Given the description of an element on the screen output the (x, y) to click on. 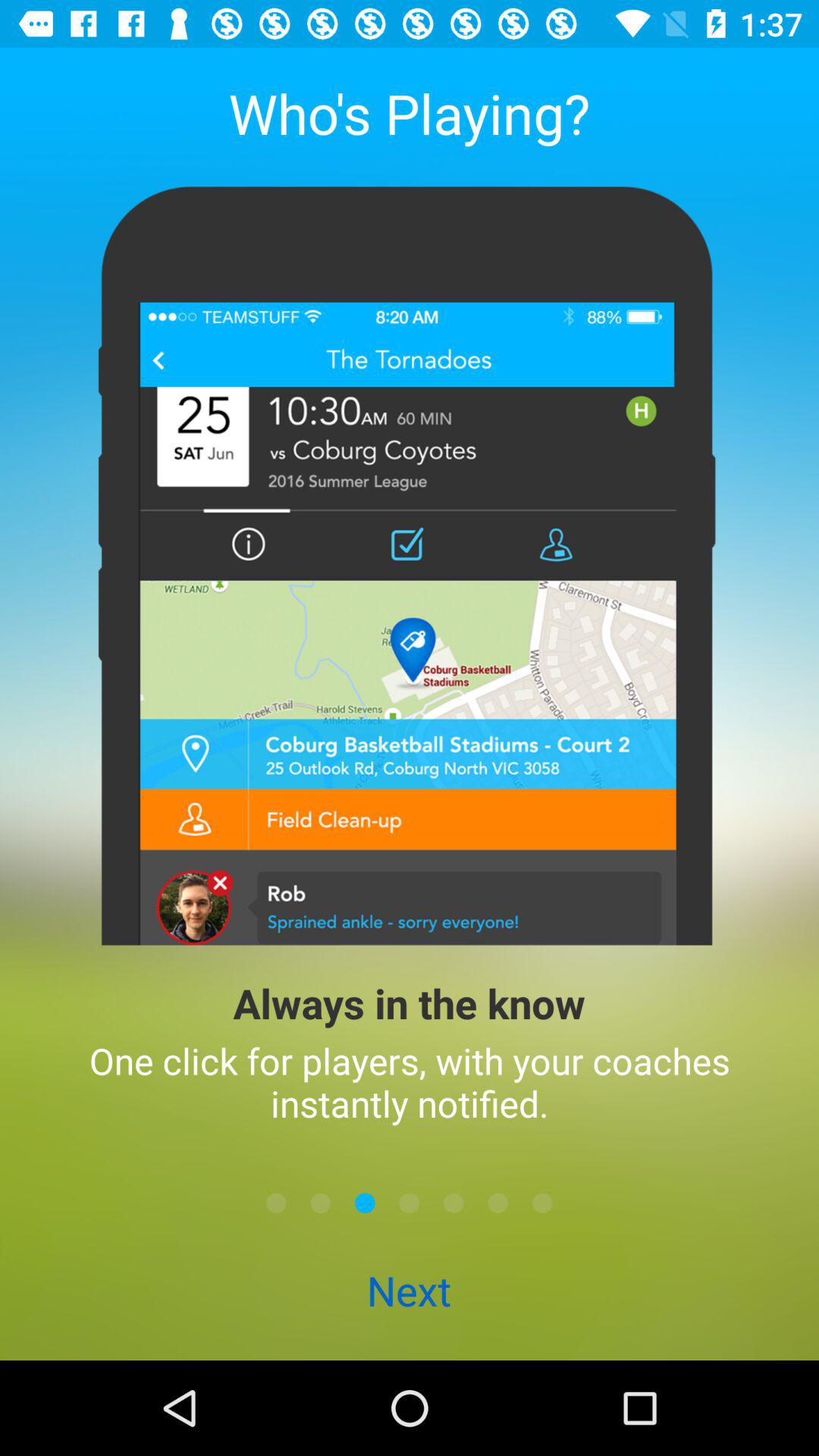
select the icon below one click for (320, 1203)
